Given the description of an element on the screen output the (x, y) to click on. 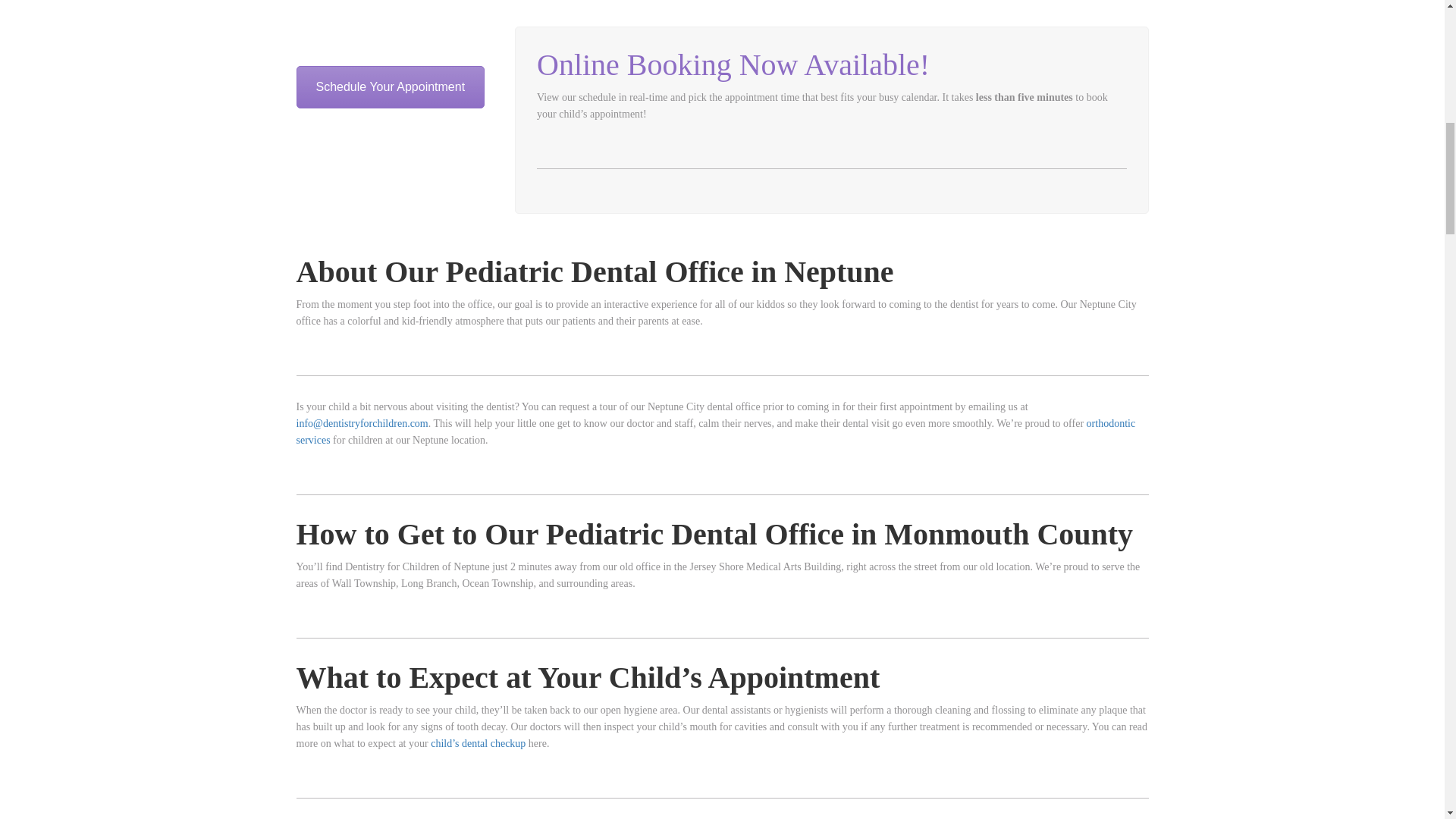
Schedule Your Appointment (389, 87)
orthodontic services (715, 431)
